Given the description of an element on the screen output the (x, y) to click on. 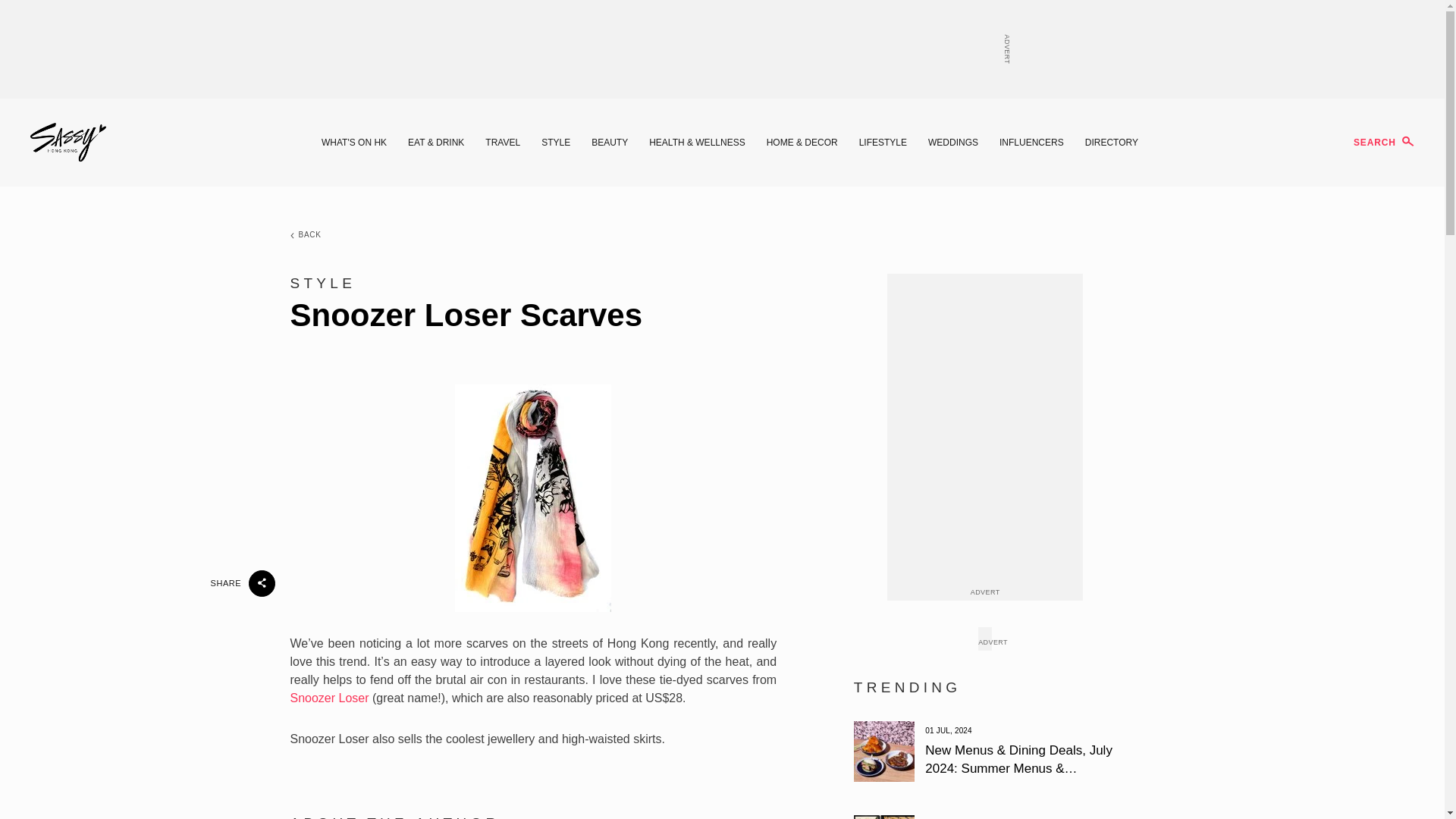
WHAT'S ON HK (354, 142)
TRAVEL (501, 142)
3rd party ad content (721, 49)
Sassy Hong Kong (68, 142)
